Given the description of an element on the screen output the (x, y) to click on. 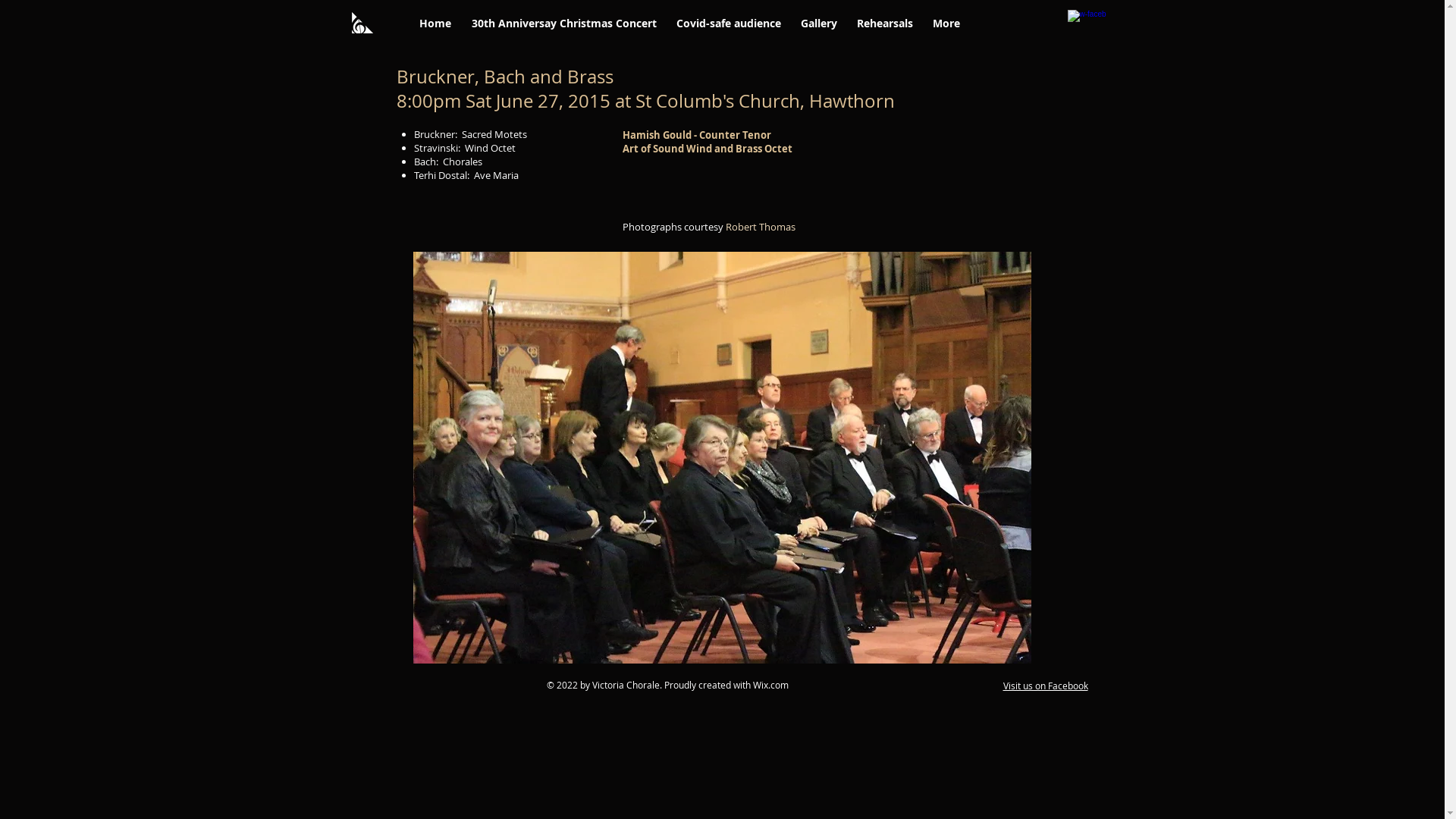
Home Element type: text (435, 22)
Wix.com Element type: text (770, 684)
Rehearsals Element type: text (884, 22)
30th Anniversay Christmas Concert Element type: text (563, 22)
Visit us on Facebook Element type: text (1044, 685)
Covid-safe audience Element type: text (727, 22)
Embedded Content Element type: hover (1023, 25)
Gallery Element type: text (818, 22)
